Given the description of an element on the screen output the (x, y) to click on. 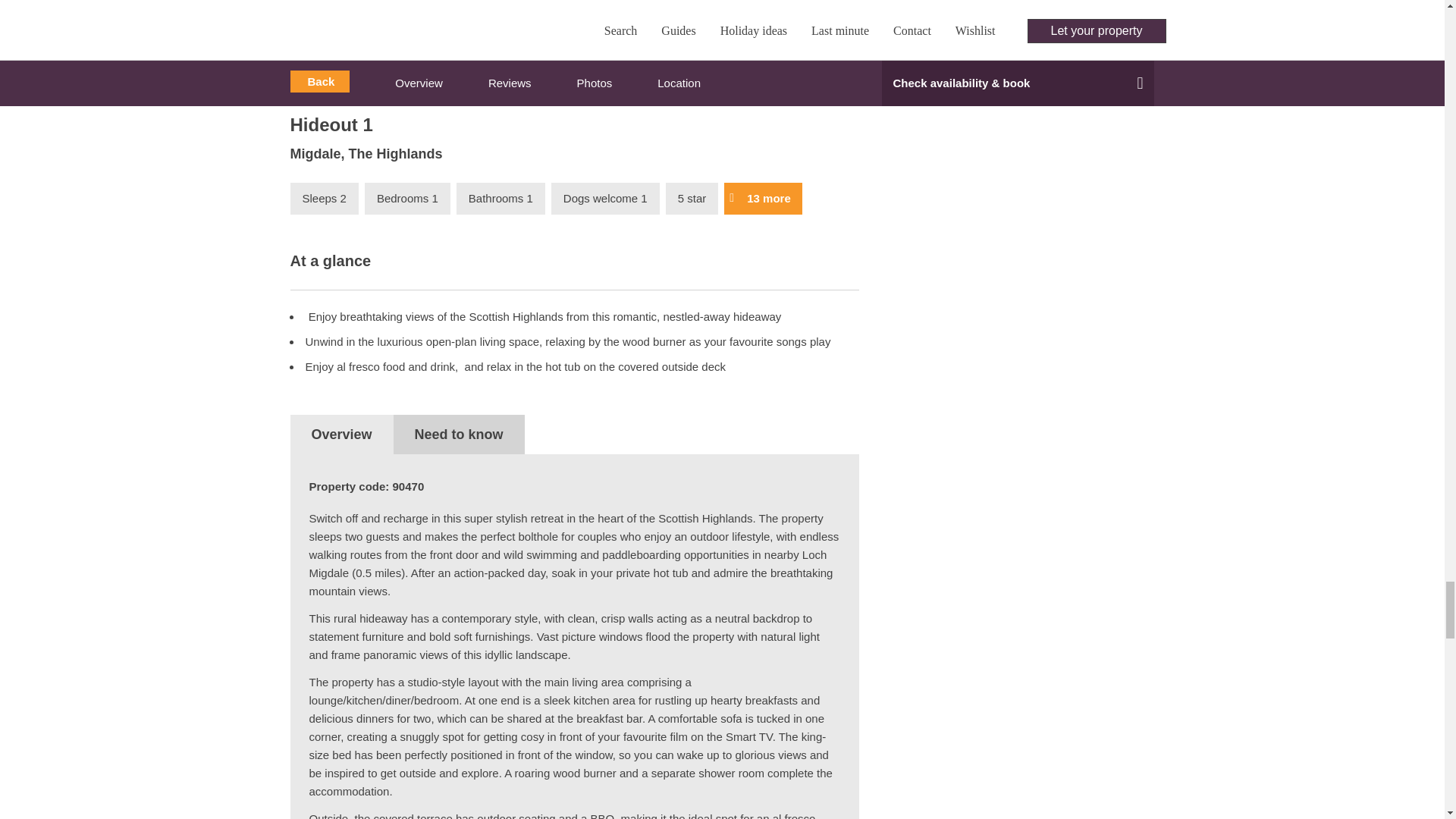
13 more (762, 197)
Need to know (458, 434)
Overview (341, 434)
